Given the description of an element on the screen output the (x, y) to click on. 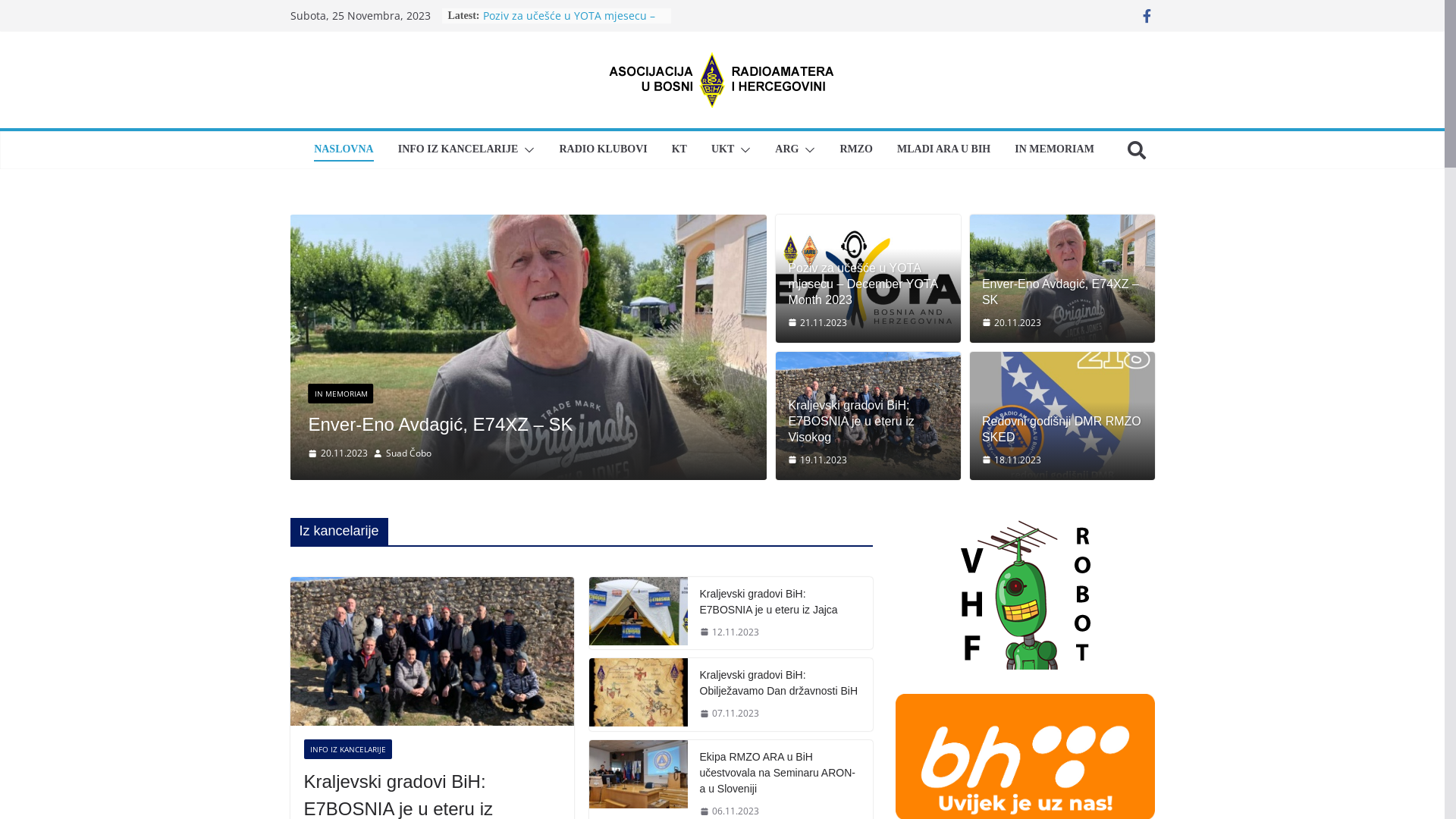
Kraljevski gradovi BiH: E7BOSNIA je u eteru iz Visokog Element type: hover (431, 651)
20.11.2023 Element type: text (1011, 322)
INFO IZ KANCELARIJE Element type: text (347, 749)
Kraljevski gradovi BiH: E7BOSNIA je u eteru iz Visokog Element type: text (867, 421)
UKT Element type: text (722, 149)
IN MEMORIAM Element type: text (1054, 149)
Kraljevski gradovi BiH: E7BOSNIA je u eteru iz Jajca Element type: hover (637, 613)
Kraljevski gradovi BiH: E7BOSNIA je u eteru iz Jajca Element type: hover (637, 611)
RADIO KLUBOVI Element type: text (602, 149)
19.11.2023 Element type: text (817, 459)
12.11.2023 Element type: text (728, 632)
INFO IZ KANCELARIJE Element type: text (458, 149)
RMZO Element type: text (855, 149)
Kraljevski gradovi BiH: E7BOSNIA je u eteru iz Visokog Element type: hover (867, 415)
Kraljevski gradovi BiH: E7BOSNIA je u eteru iz Jajca Element type: text (779, 602)
MLADI ARA U BIH Element type: text (943, 149)
21.11.2023 Element type: text (817, 322)
18.11.2023 Element type: text (1011, 459)
NASLOVNA Element type: text (343, 149)
KT Element type: text (679, 149)
07.11.2023 Element type: text (728, 713)
INFO IZ KANCELARIJE Element type: text (351, 369)
19.11.2023 Element type: text (337, 453)
Kraljevski gradovi BiH: E7BOSNIA je u eteru iz Visokog Element type: text (495, 412)
ARG Element type: text (786, 149)
